Given the description of an element on the screen output the (x, y) to click on. 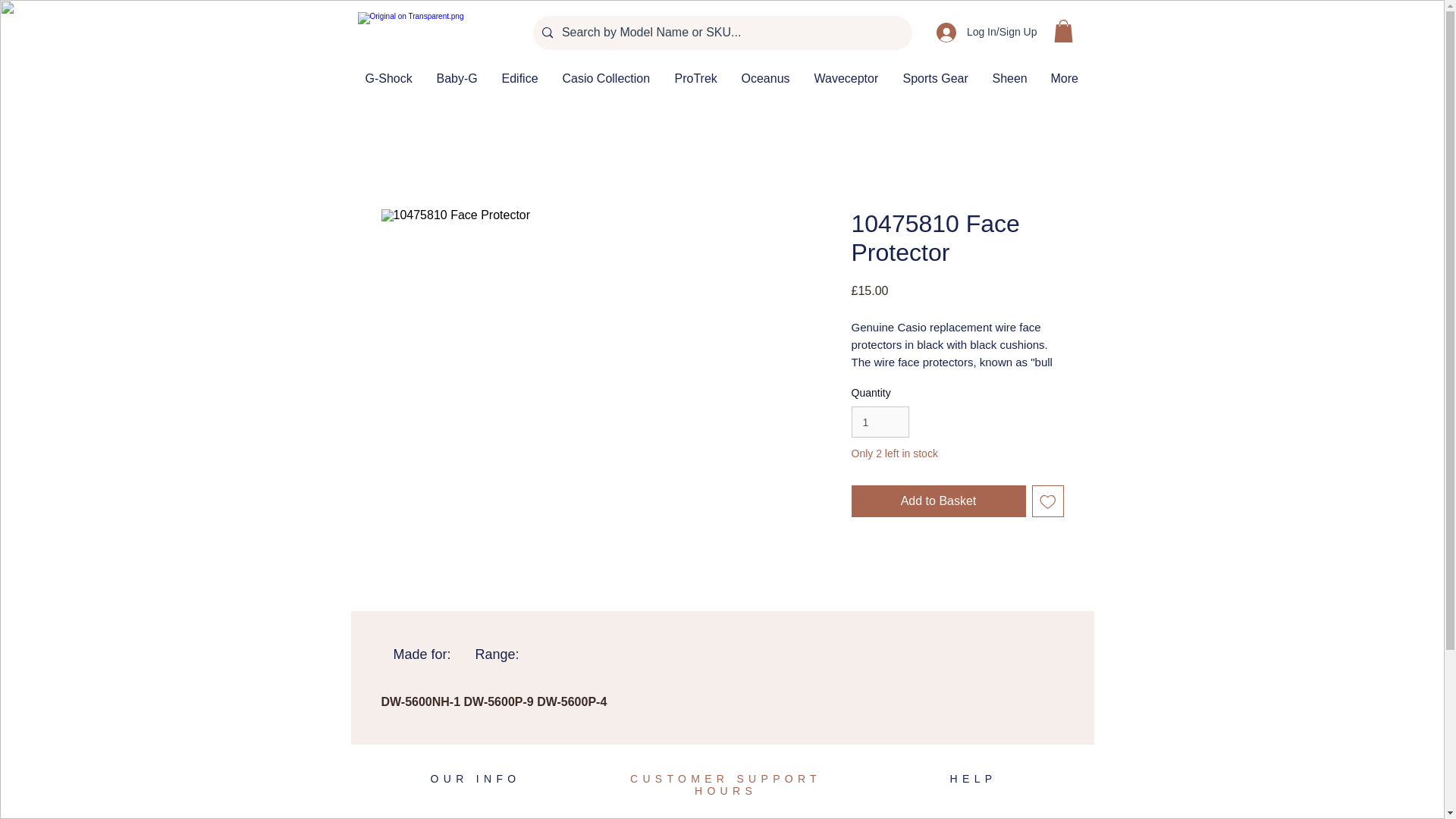
Use right and left arrows to navigate between tabs (421, 654)
G-Shock (389, 78)
Casio Collection (606, 78)
1 (879, 421)
Edifice (519, 78)
Baby-G (457, 78)
Use right and left arrows to navigate between tabs (496, 654)
ProTrek (695, 78)
Oceanus (765, 78)
